Given the description of an element on the screen output the (x, y) to click on. 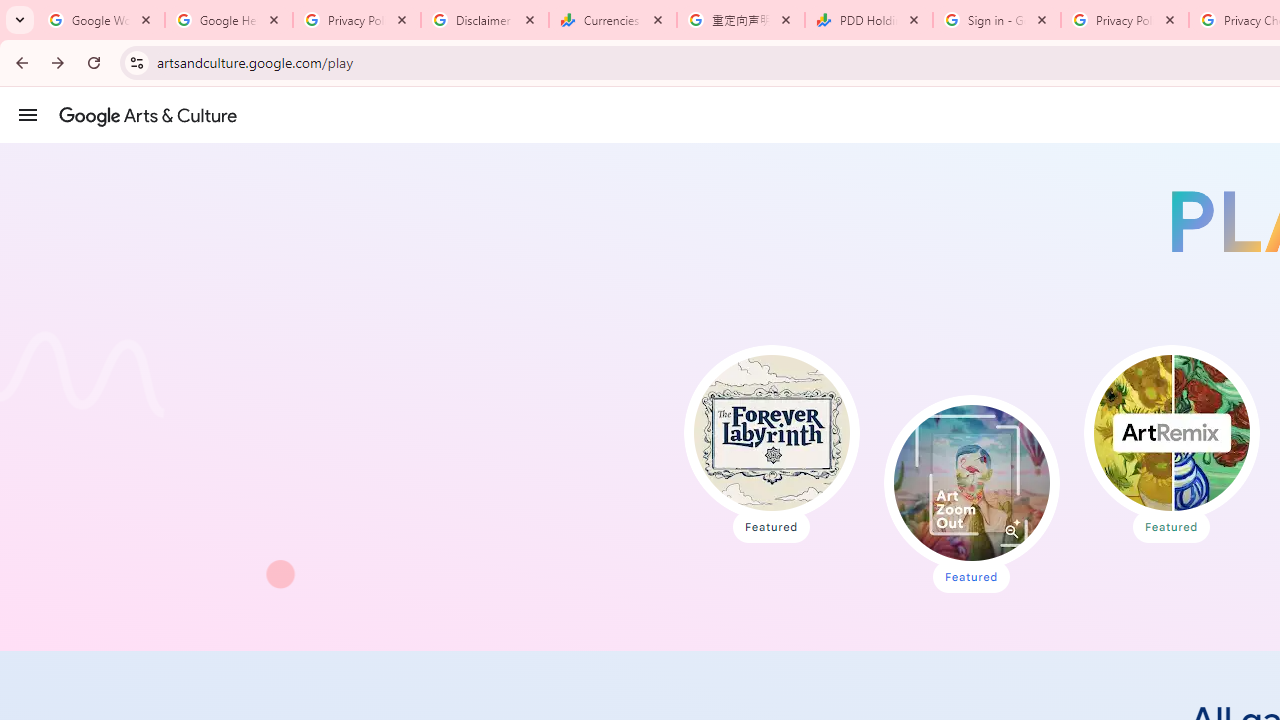
Sign in - Google Accounts (997, 20)
Google Arts & Culture (148, 115)
